Given the description of an element on the screen output the (x, y) to click on. 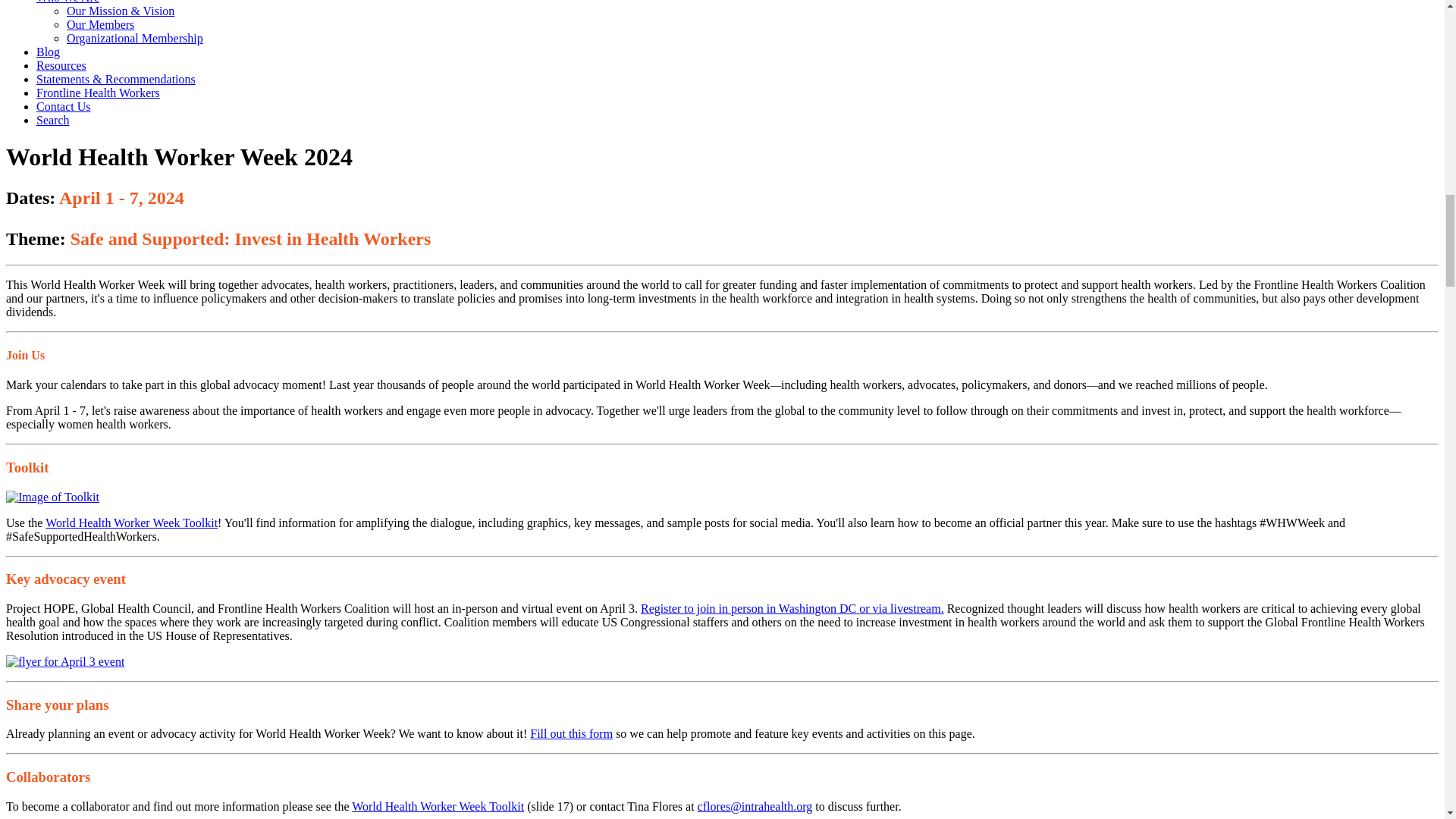
Organizational Membership (134, 38)
Blog (47, 51)
Resources (60, 65)
Frontline Health Workers (98, 92)
World Health Worker Week Toolkit (438, 806)
Search (52, 119)
Who We Are (67, 2)
Our Members (99, 24)
Fill out this form (570, 733)
